Given the description of an element on the screen output the (x, y) to click on. 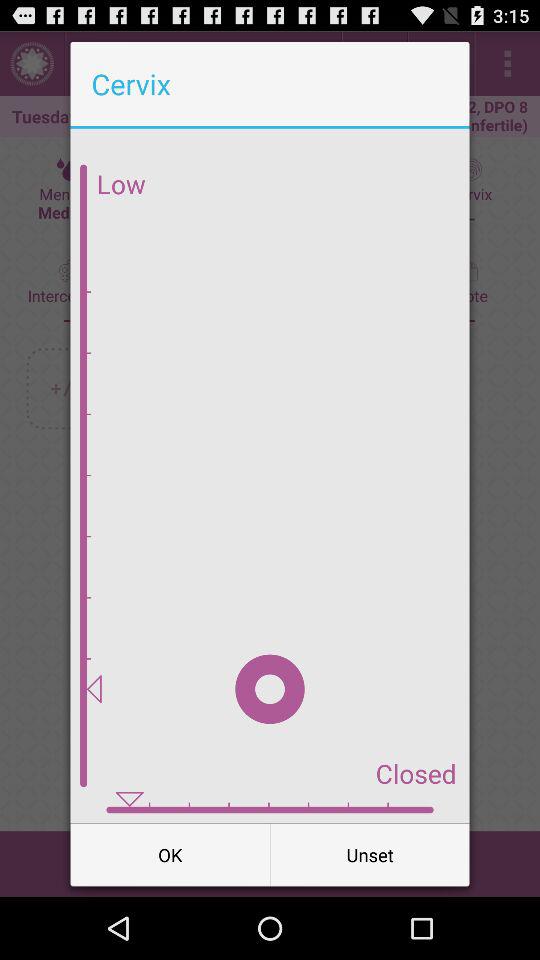
open button next to the unset item (170, 854)
